Given the description of an element on the screen output the (x, y) to click on. 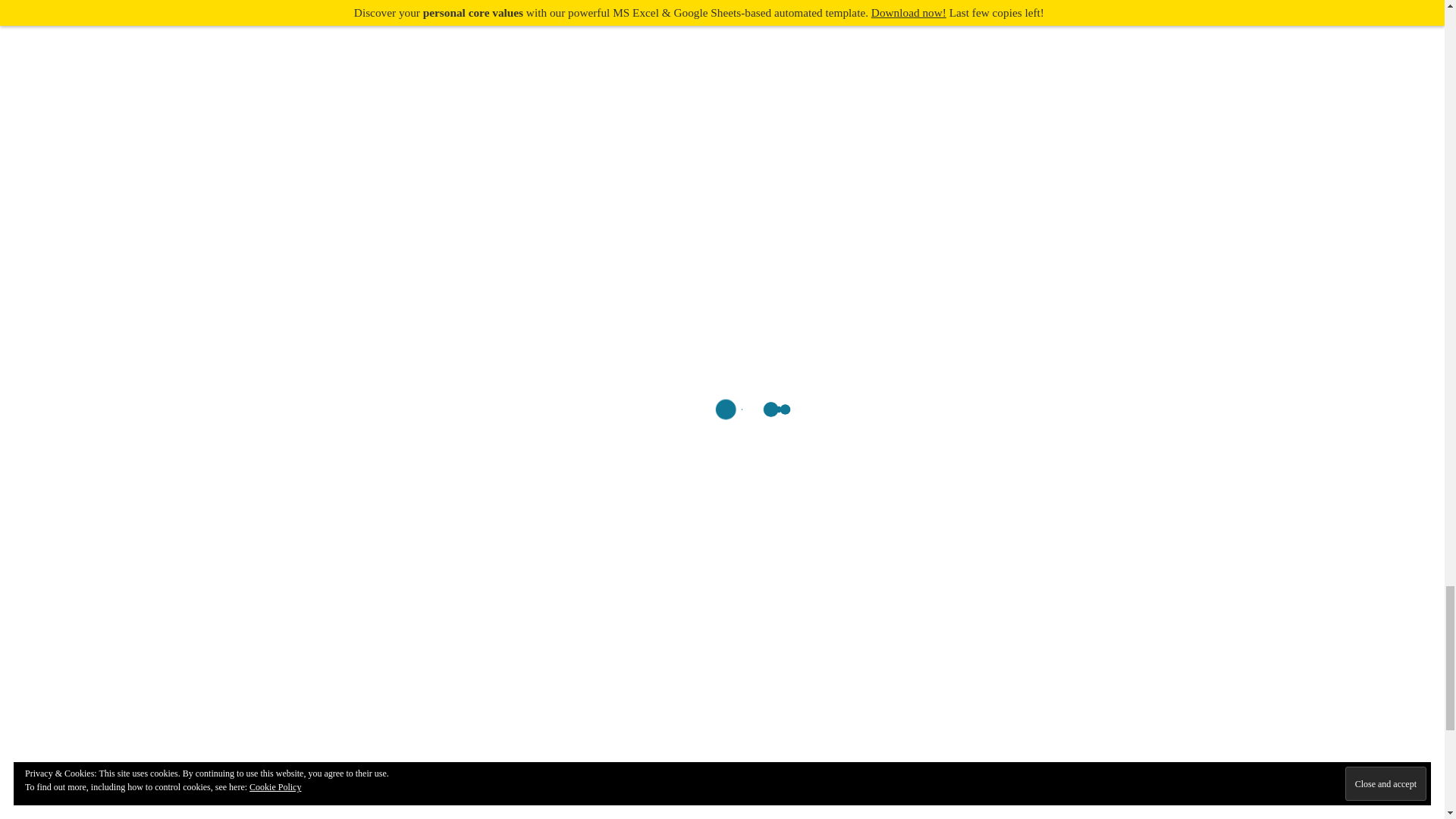
Click to share on Facebook (392, 310)
Click to share on Pocket (319, 310)
Click to share on LinkedIn (248, 310)
